Given the description of an element on the screen output the (x, y) to click on. 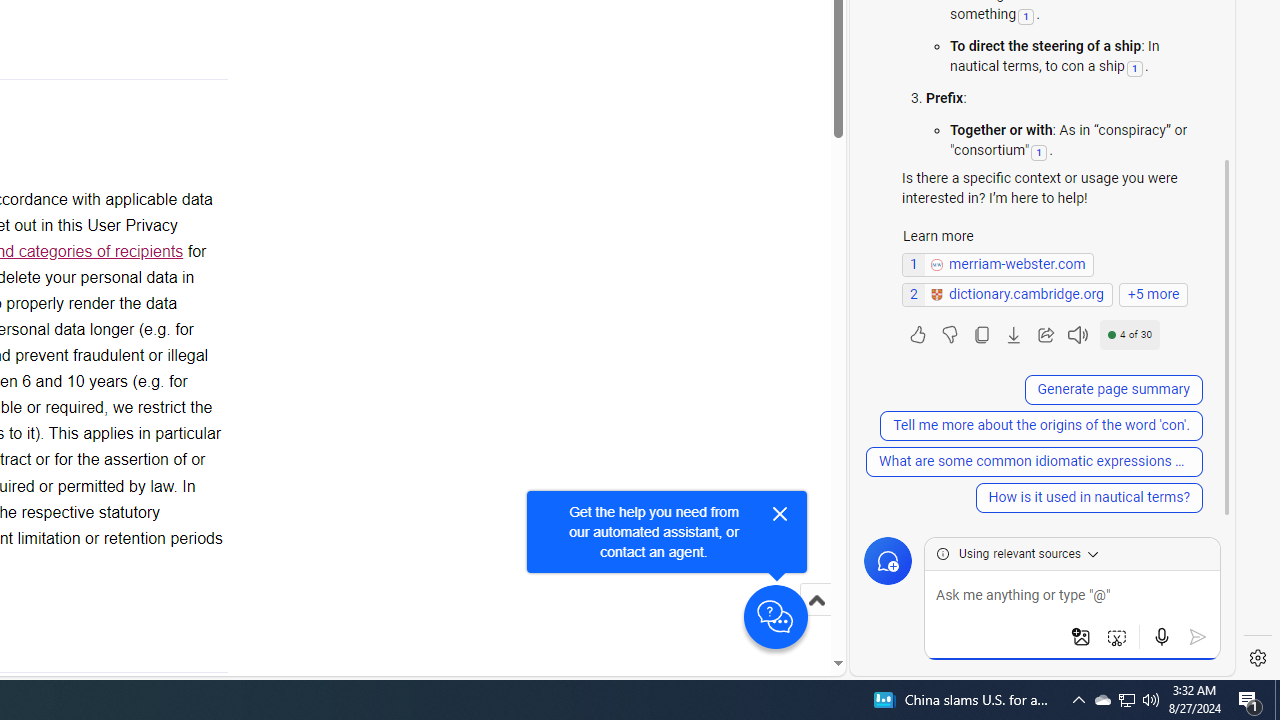
Scroll to top (816, 599)
Scroll to top (816, 620)
